Given the description of an element on the screen output the (x, y) to click on. 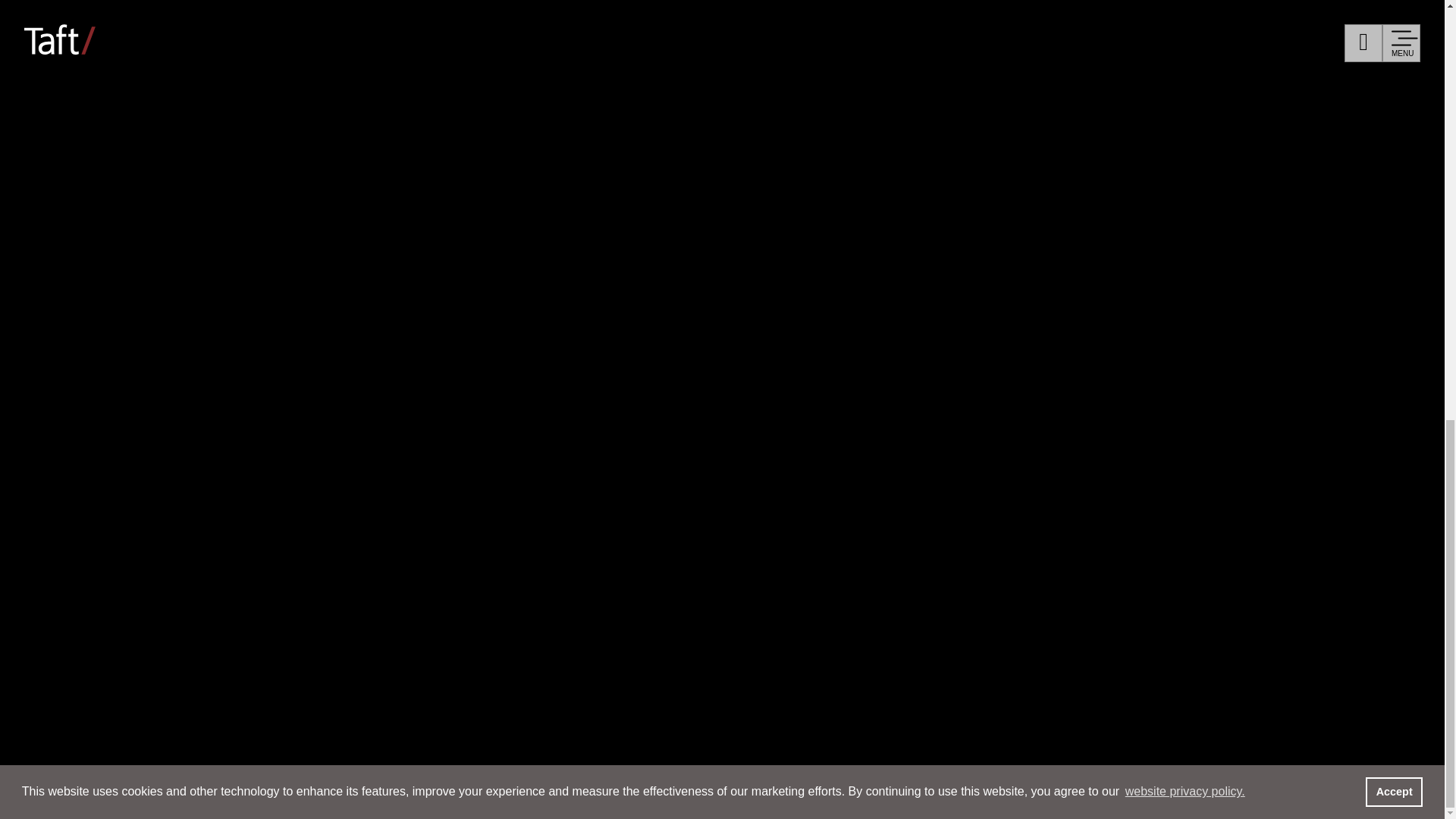
Affiliates (753, 565)
Careers (136, 490)
Privacy (1002, 565)
Subscribe (925, 565)
About (124, 579)
Accessibility (1242, 565)
Contact Us (836, 565)
Payments (861, 591)
Terms and Conditions (1114, 565)
Services (144, 221)
People (129, 130)
